Given the description of an element on the screen output the (x, y) to click on. 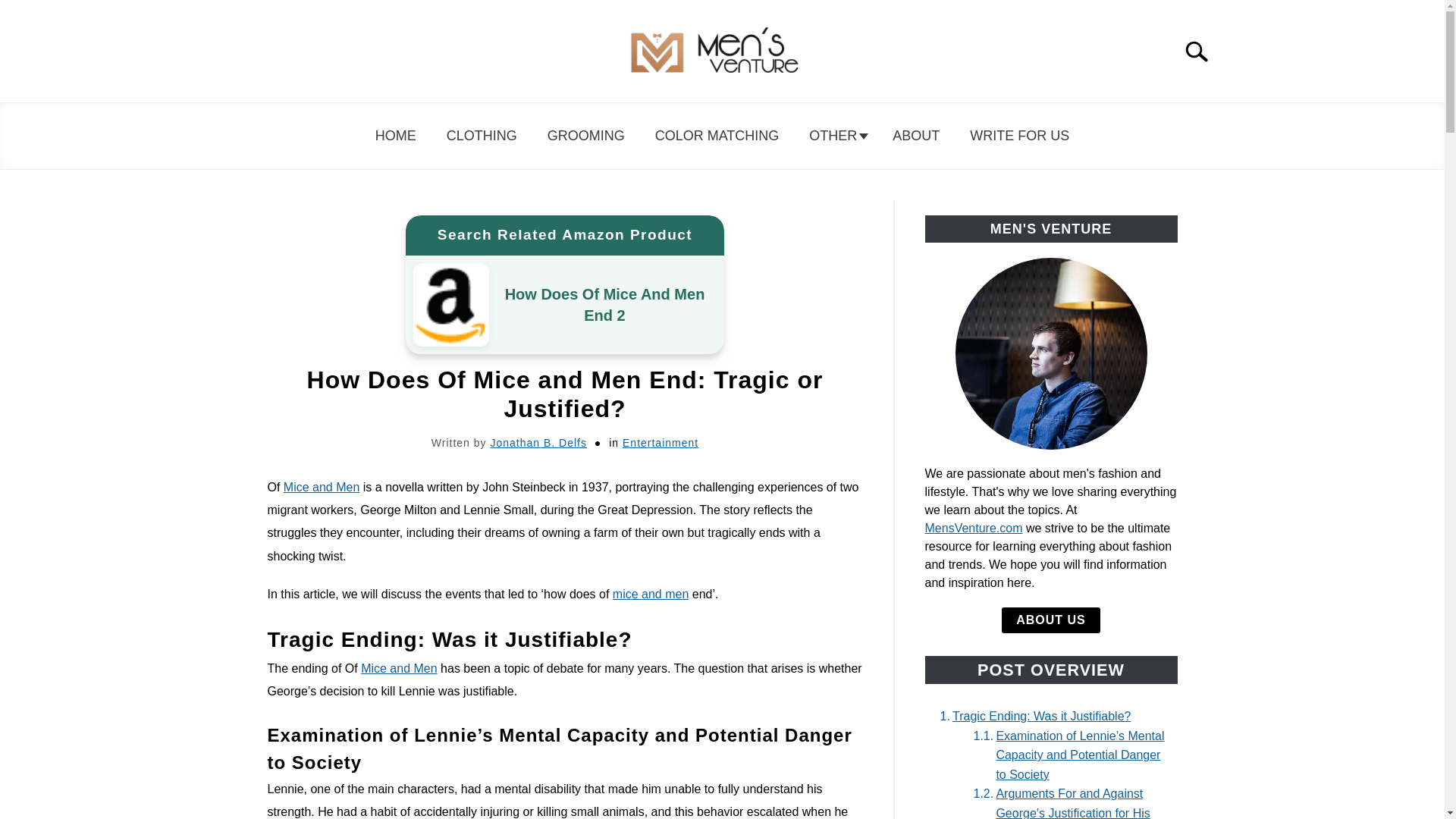
Search (1203, 51)
ABOUT (916, 135)
Tragic Ending: Was it Justifiable? (1032, 716)
GROOMING (586, 135)
OTHER (835, 135)
CLOTHING (481, 135)
HOME (394, 135)
WRITE FOR US (1019, 135)
COLOR MATCHING (717, 135)
Mice and Men (321, 486)
Jonathan B. Delfs (537, 442)
Mice and Men (399, 667)
mice and men (650, 594)
Entertainment (660, 442)
